Given the description of an element on the screen output the (x, y) to click on. 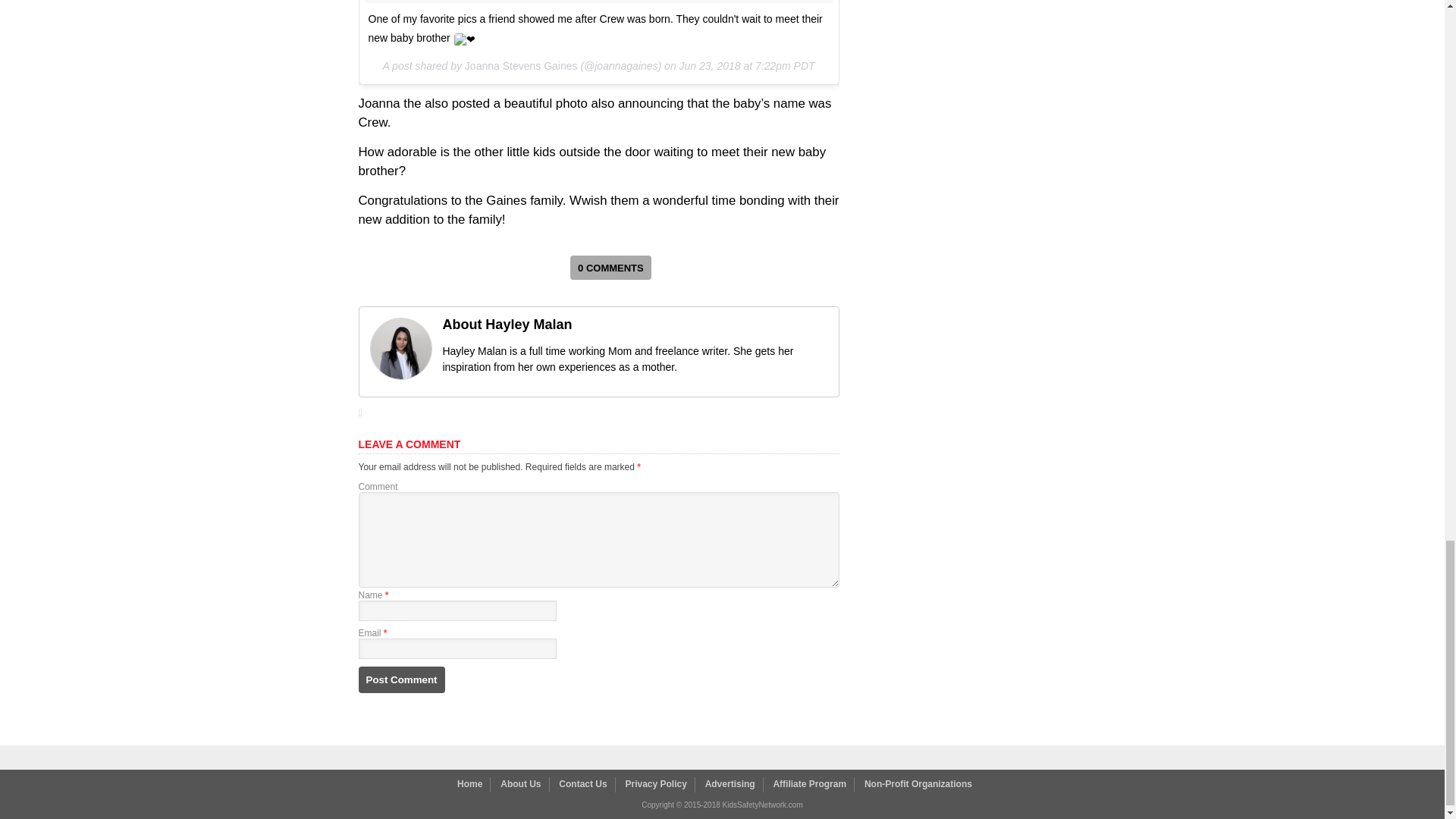
Post Comment (401, 679)
